Given the description of an element on the screen output the (x, y) to click on. 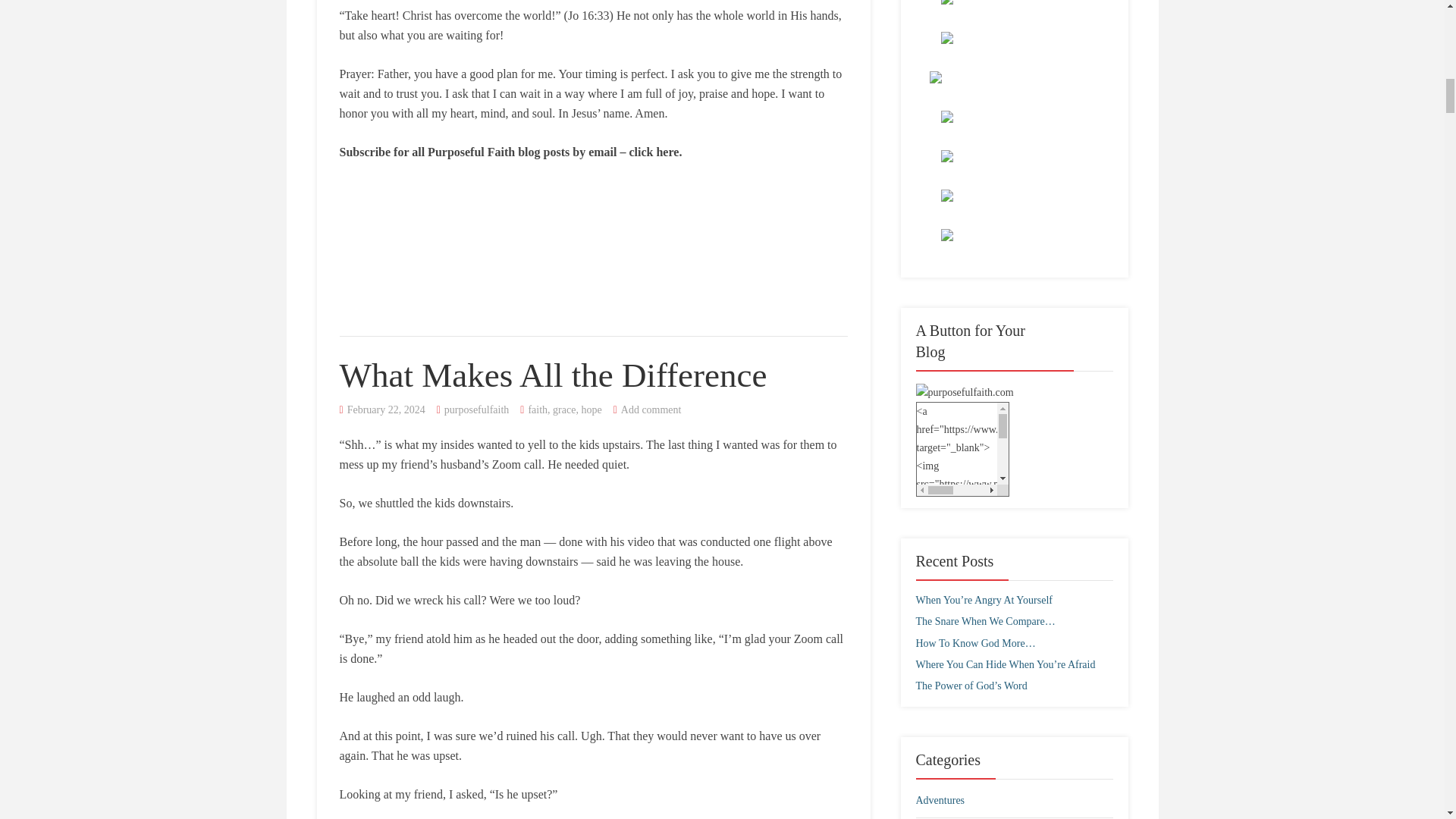
hope (590, 409)
click here. (654, 151)
purposefulfaith (476, 409)
grace (564, 409)
faith (537, 409)
What Makes All the Difference (553, 374)
Add comment (651, 409)
What Makes All the Difference (553, 374)
